Given the description of an element on the screen output the (x, y) to click on. 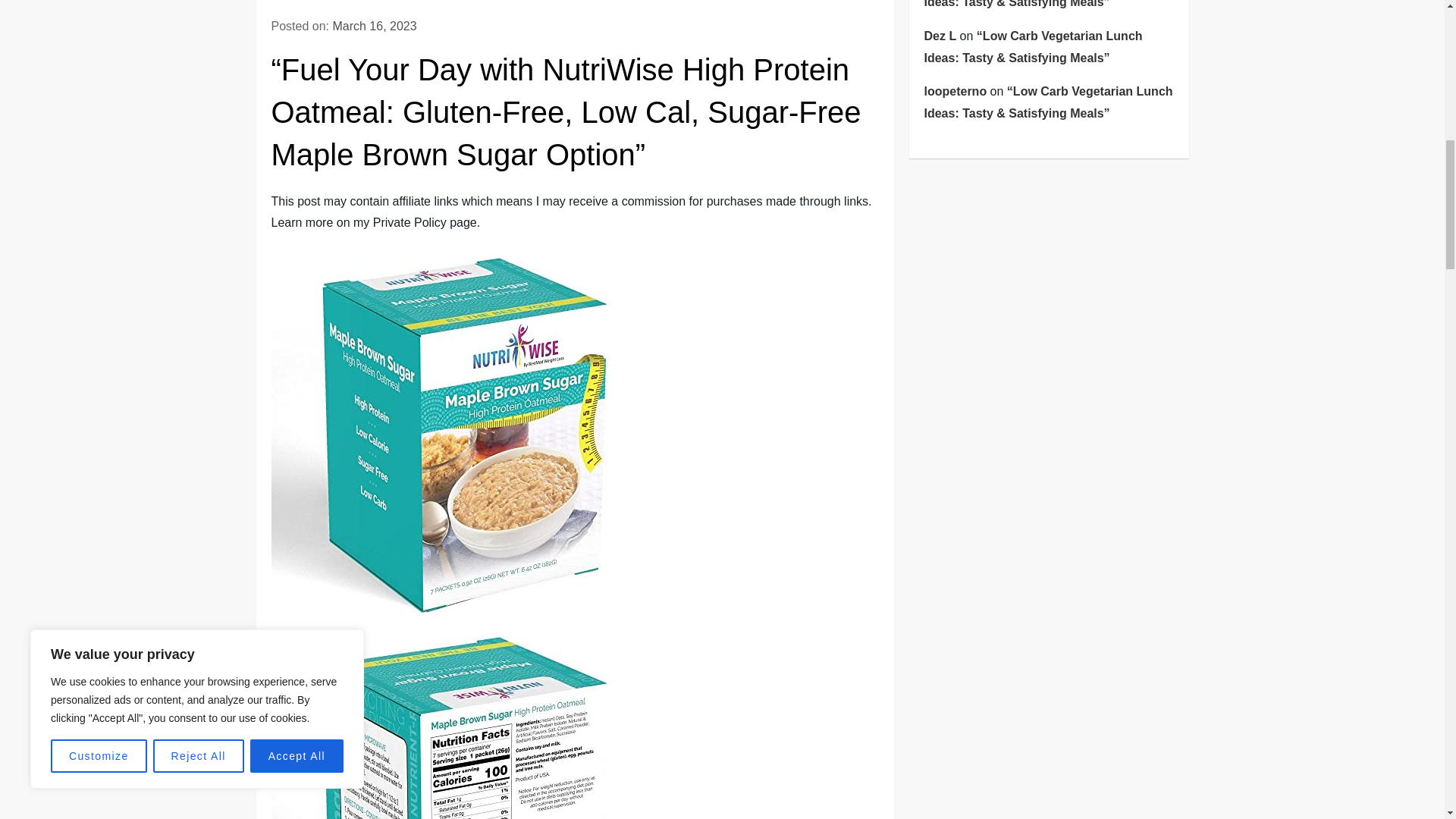
March 16, 2023 (373, 25)
